Given the description of an element on the screen output the (x, y) to click on. 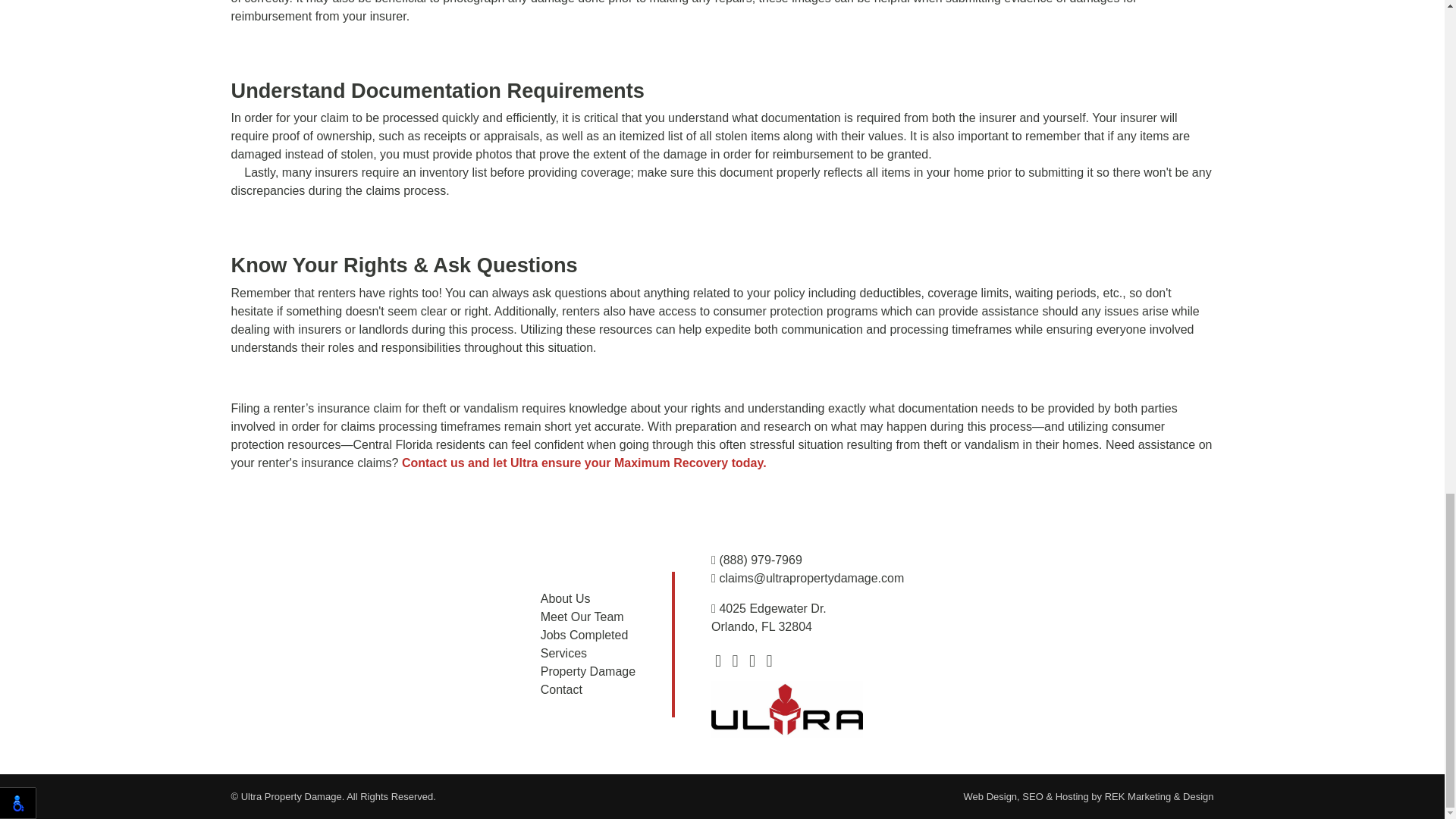
Meet Our Team (582, 616)
About Us (565, 598)
Property Damage (587, 671)
Contact us and let Ultra ensure your Maximum Recovery today. (584, 462)
Services (563, 653)
Jobs Completed (584, 634)
Contact (561, 689)
